Given the description of an element on the screen output the (x, y) to click on. 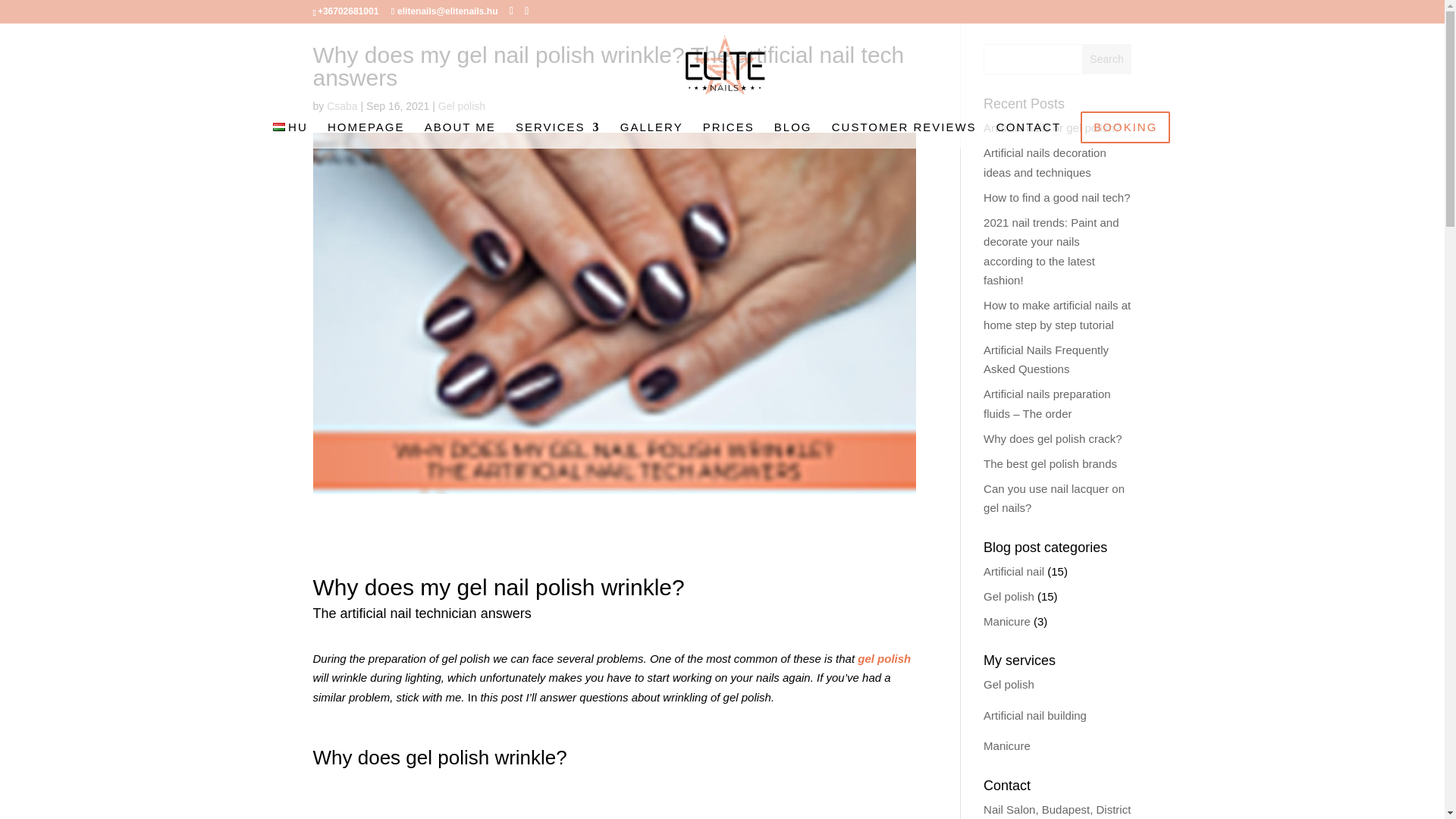
Gel polish (1008, 595)
SERVICES (557, 135)
Artificial nails or gel polish? (1052, 127)
Artificial nail (1013, 570)
CONTACT (1028, 135)
PRICES (728, 135)
How to find a good nail tech? (1056, 196)
Artificial nails decoration ideas and techniques (1045, 162)
ABOUT ME (460, 135)
